Given the description of an element on the screen output the (x, y) to click on. 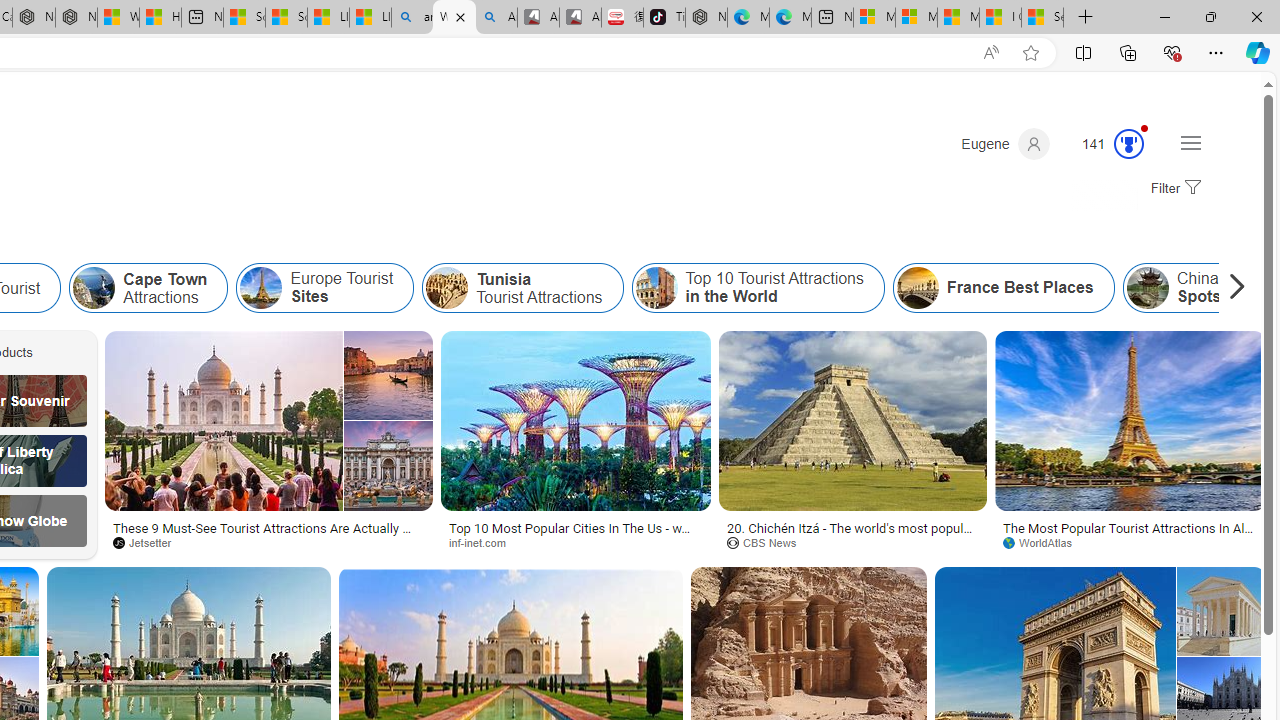
Huge shark washes ashore at New York City beach | Watch (159, 17)
Jetsetter (268, 542)
Tunisia Tourist Attractions (522, 287)
Image result for World tourist attraction (1129, 421)
